Given the description of an element on the screen output the (x, y) to click on. 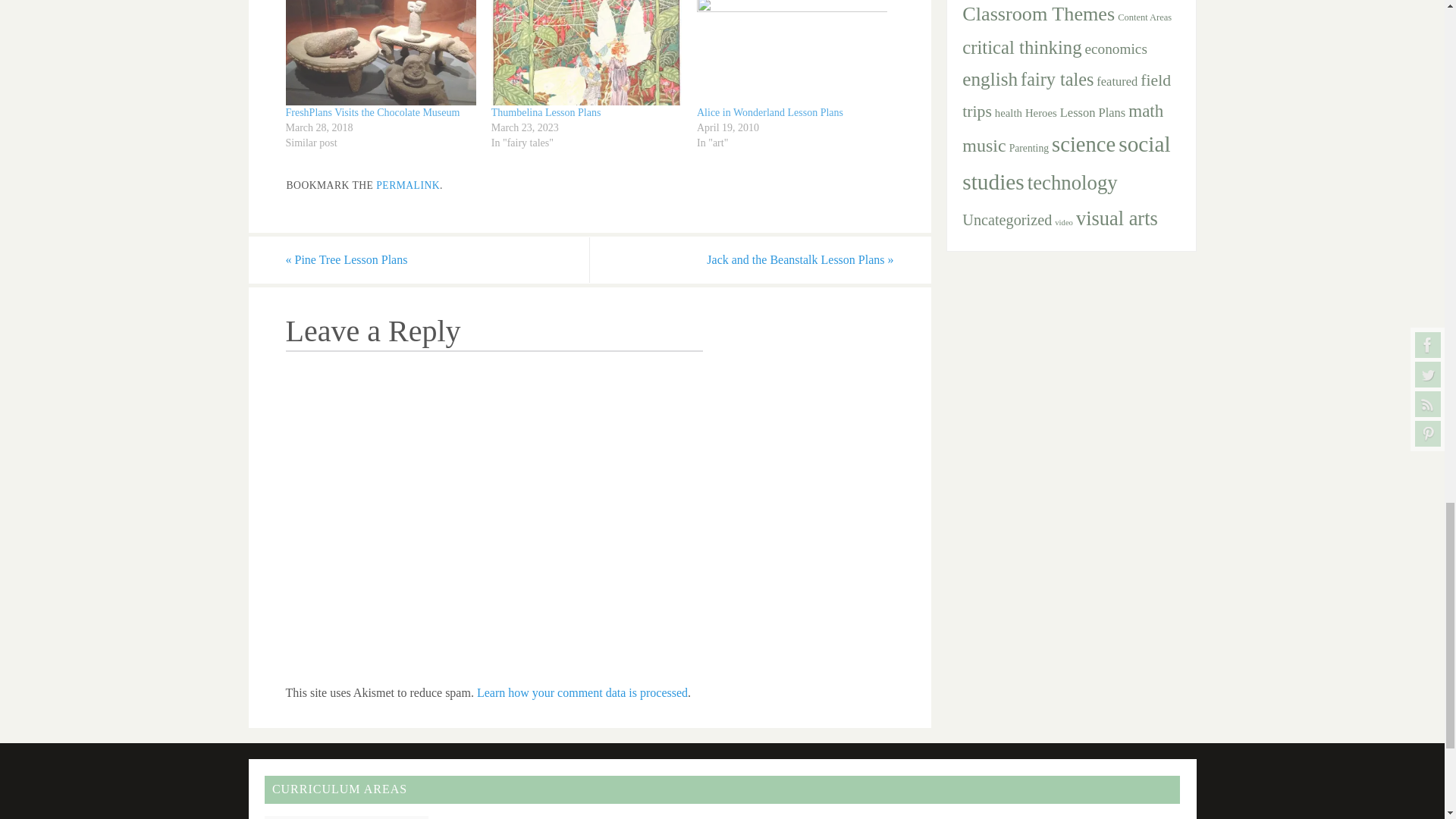
FreshPlans Visits the Chocolate Museum (380, 53)
FreshPlans Visits the Chocolate Museum (372, 112)
FreshPlans Visits the Chocolate Museum (372, 112)
Thumbelina Lesson Plans (546, 112)
